Given the description of an element on the screen output the (x, y) to click on. 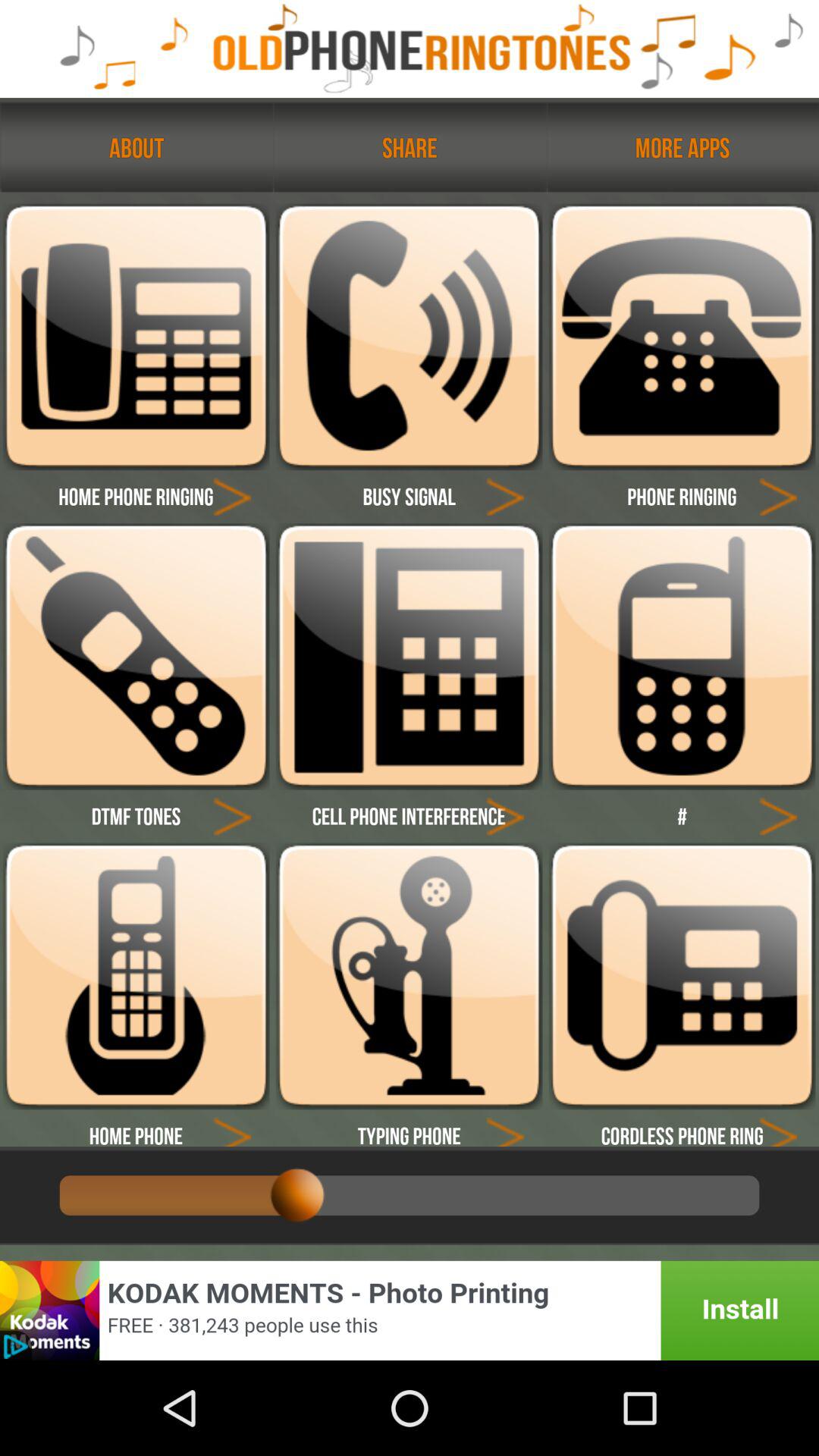
go to phone ringing (778, 496)
